Given the description of an element on the screen output the (x, y) to click on. 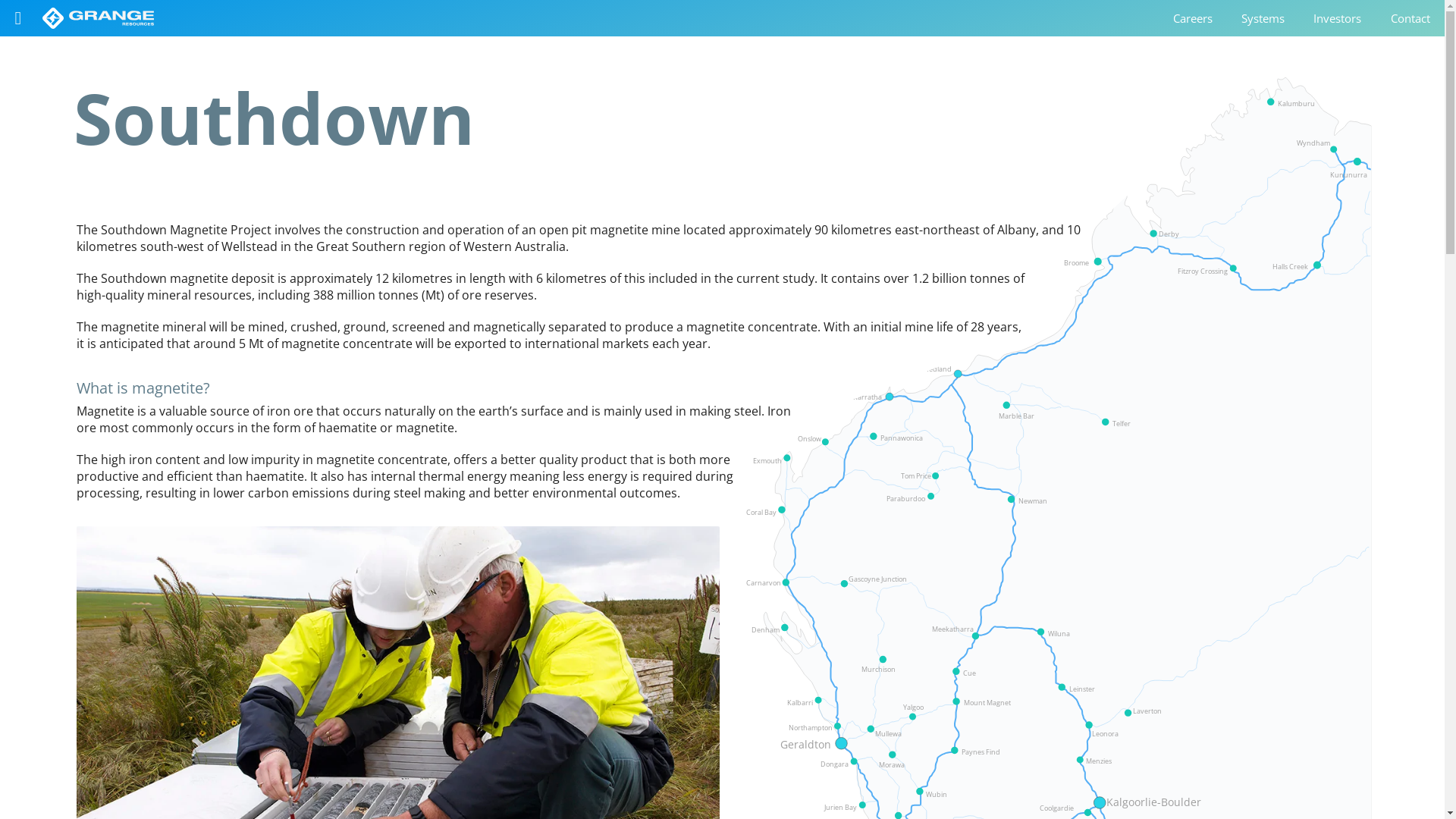
Systems Element type: text (1262, 18)
Open the menu Element type: hover (18, 18)
Investors Element type: text (1337, 18)
Contact Element type: text (1410, 18)
Careers Element type: text (1192, 18)
